Given the description of an element on the screen output the (x, y) to click on. 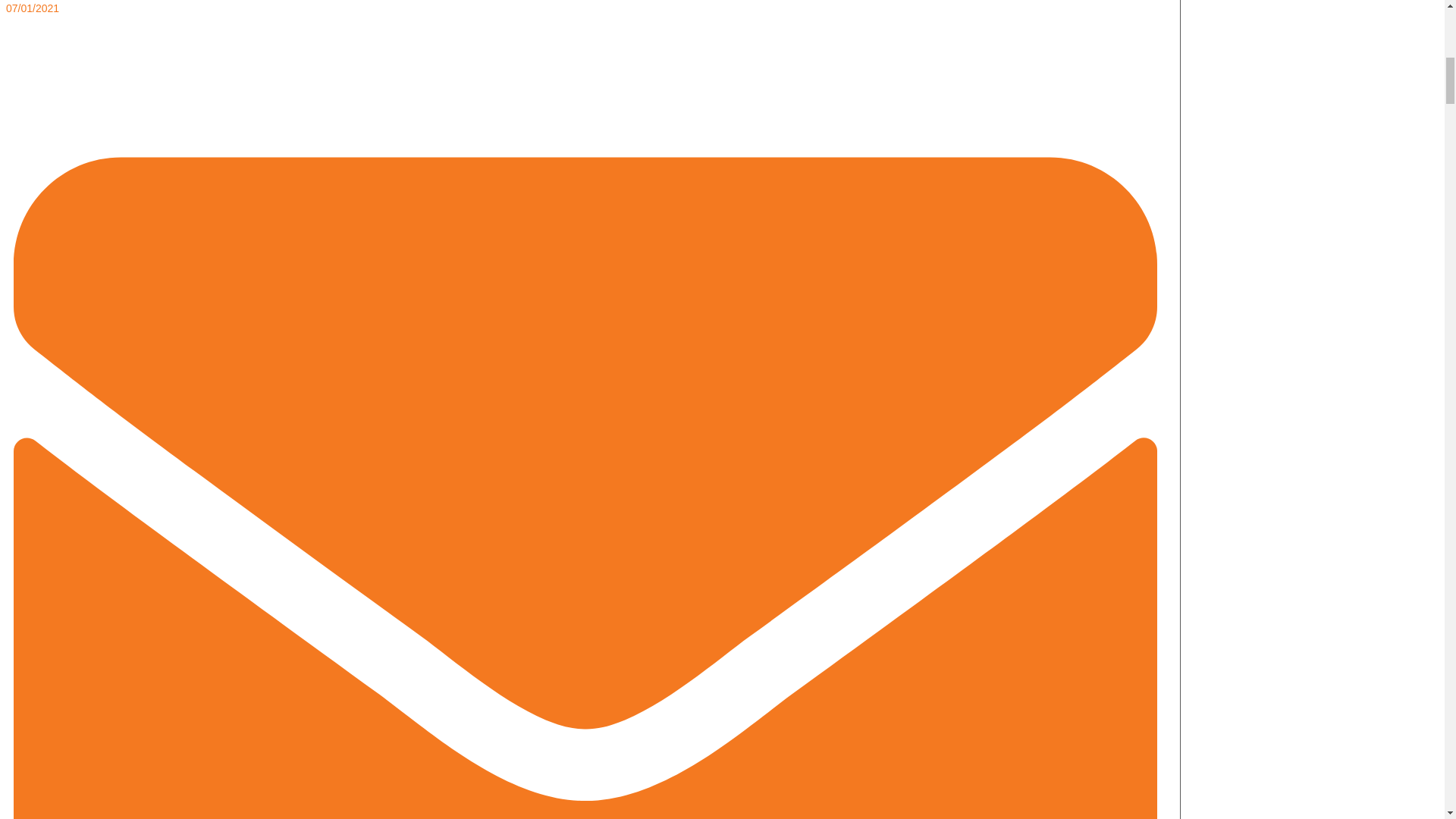
Scroll back to top (1406, 720)
